Given the description of an element on the screen output the (x, y) to click on. 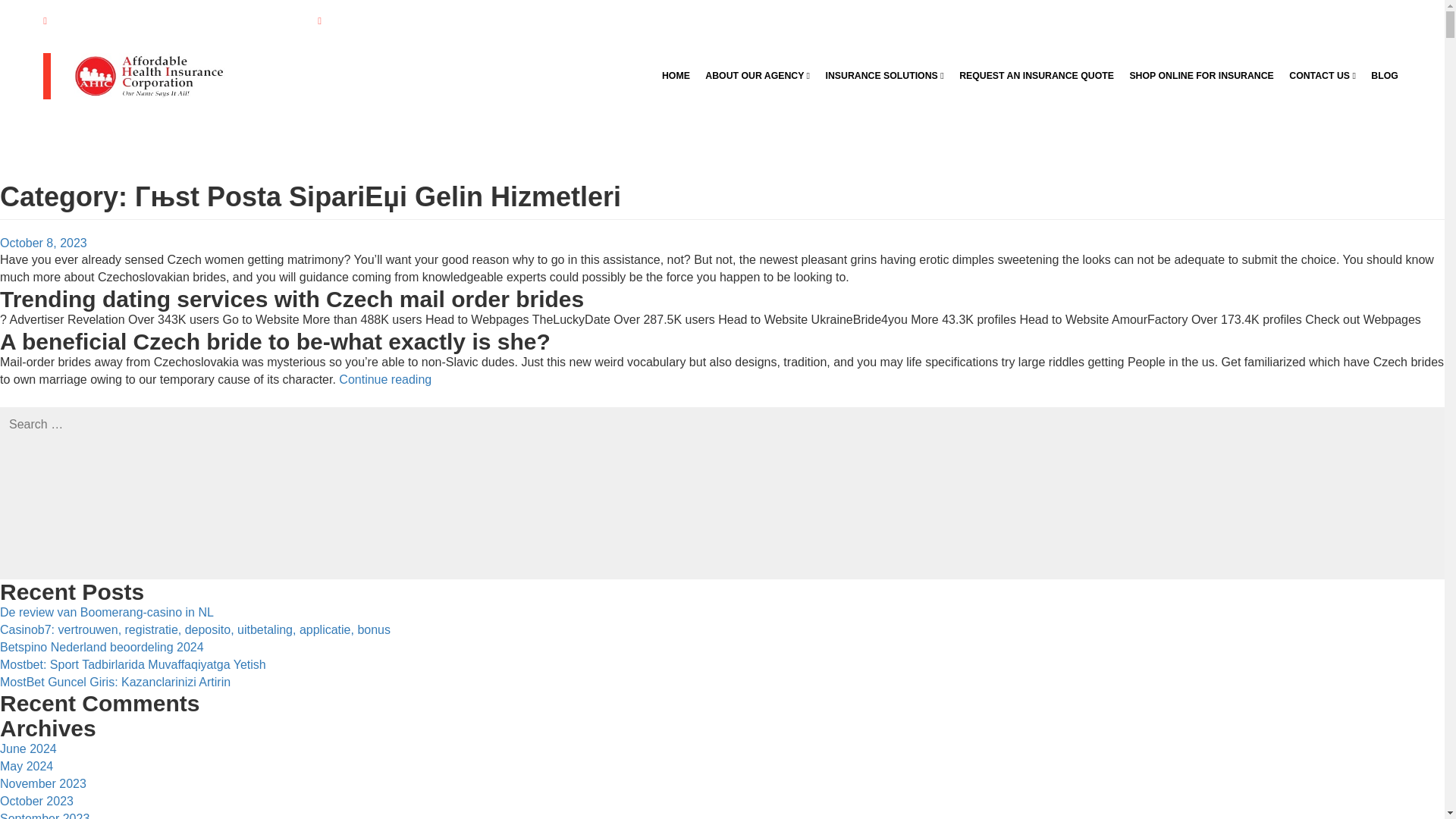
October 8, 2023 (43, 242)
HOME (676, 75)
CONTACT US (1321, 75)
BLOG (1384, 75)
ABOUT OUR AGENCY (756, 75)
SHOP ONLINE FOR INSURANCE (1200, 75)
INSURANCE SOLUTIONS (884, 75)
REQUEST AN INSURANCE QUOTE (1036, 75)
